Given the description of an element on the screen output the (x, y) to click on. 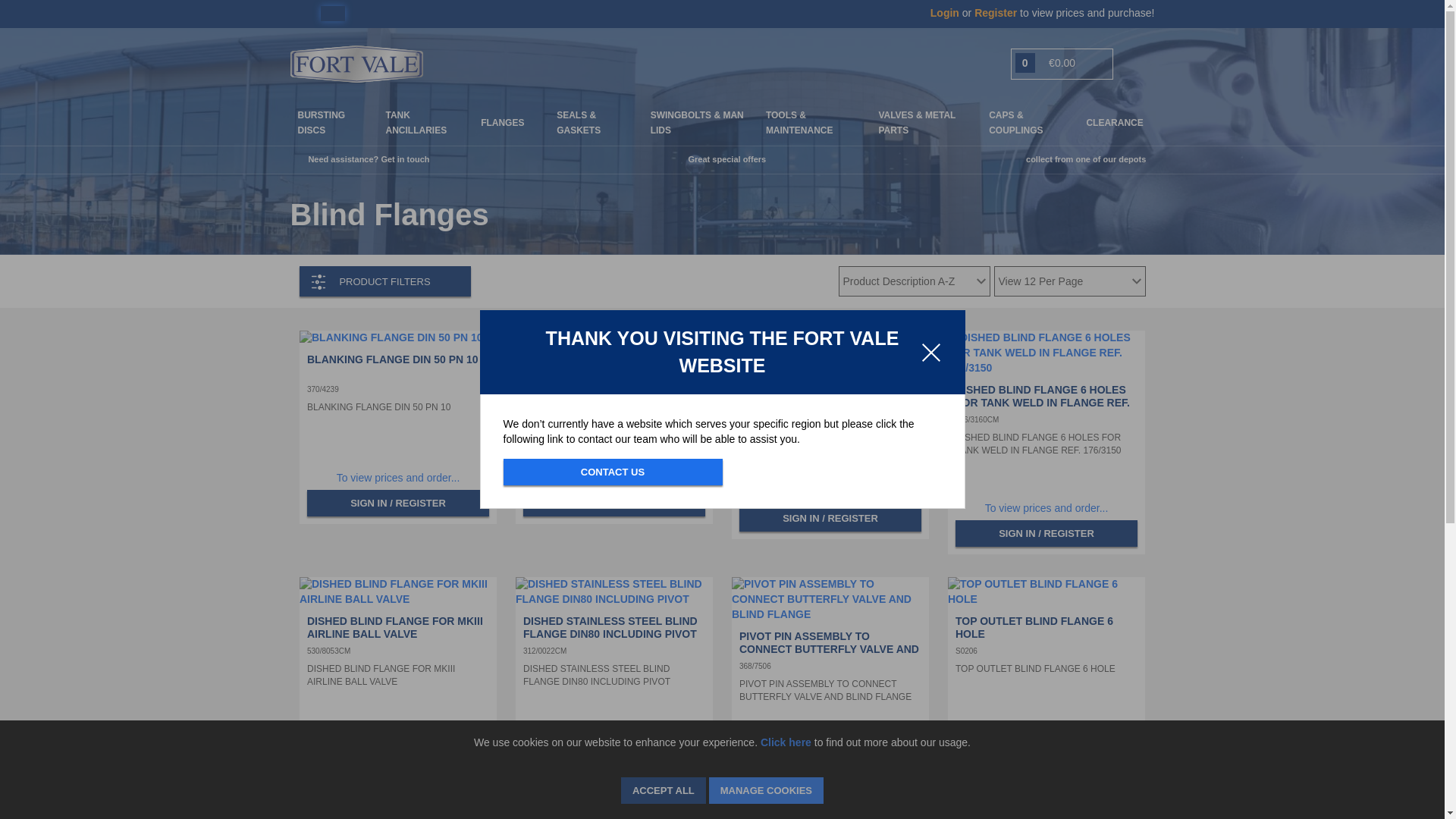
CONTACT US (612, 471)
Search (1144, 64)
United Kingdom (301, 13)
Login (946, 12)
Register (997, 12)
BURSTING DISCS (321, 122)
Fort Vale (355, 62)
Close (930, 352)
ACCEPT ALL (663, 790)
Continental Europe (332, 13)
